Given the description of an element on the screen output the (x, y) to click on. 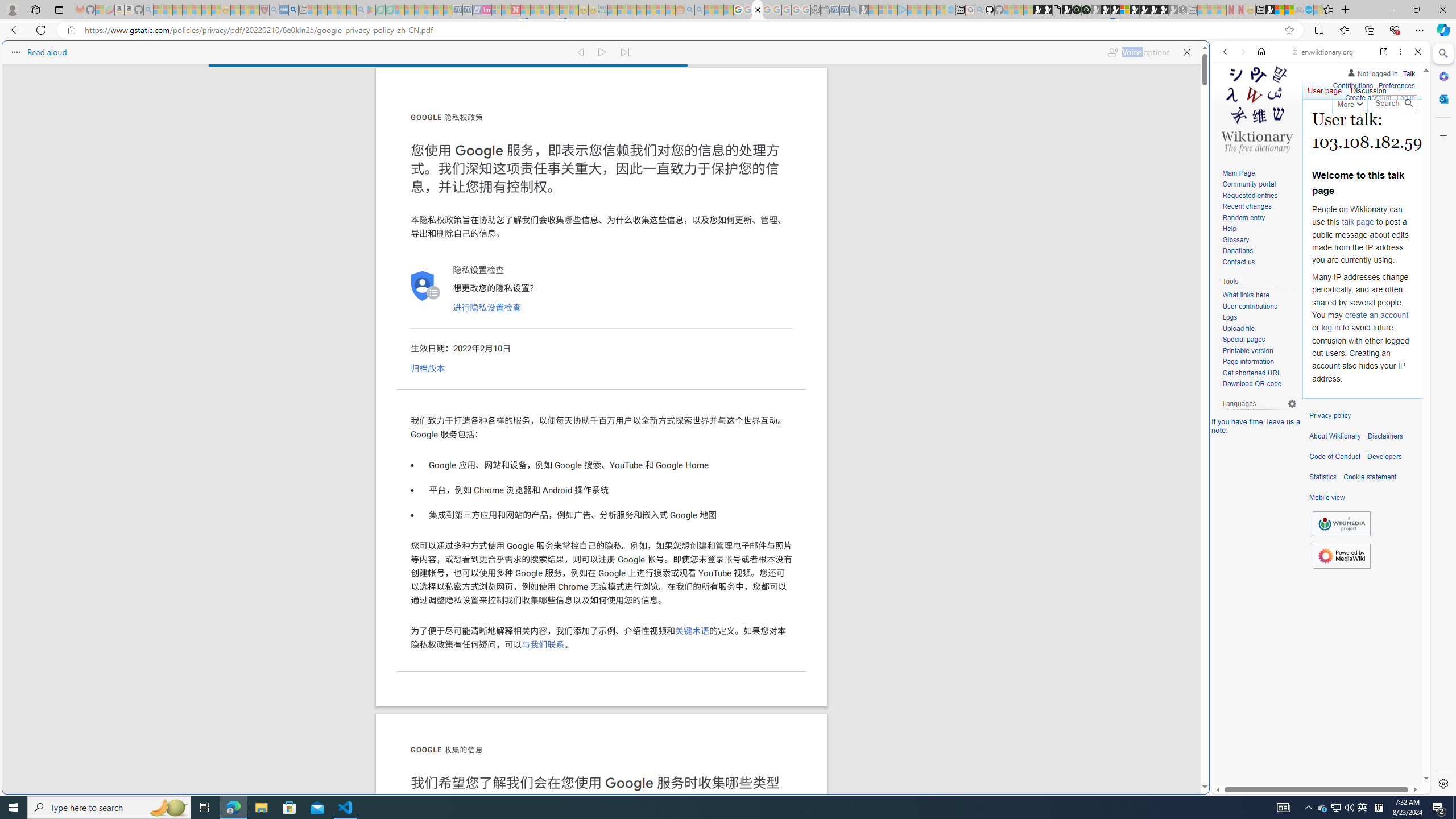
Logs (1229, 317)
google_privacy_policy_zh-CN.pdf (1118, 683)
Powered by MediaWiki (1341, 556)
User page (1324, 87)
Printable version (1247, 350)
Visit the main page (1257, 108)
Powered by MediaWiki (1341, 555)
The Weather Channel - MSN - Sleeping (177, 9)
